Given the description of an element on the screen output the (x, y) to click on. 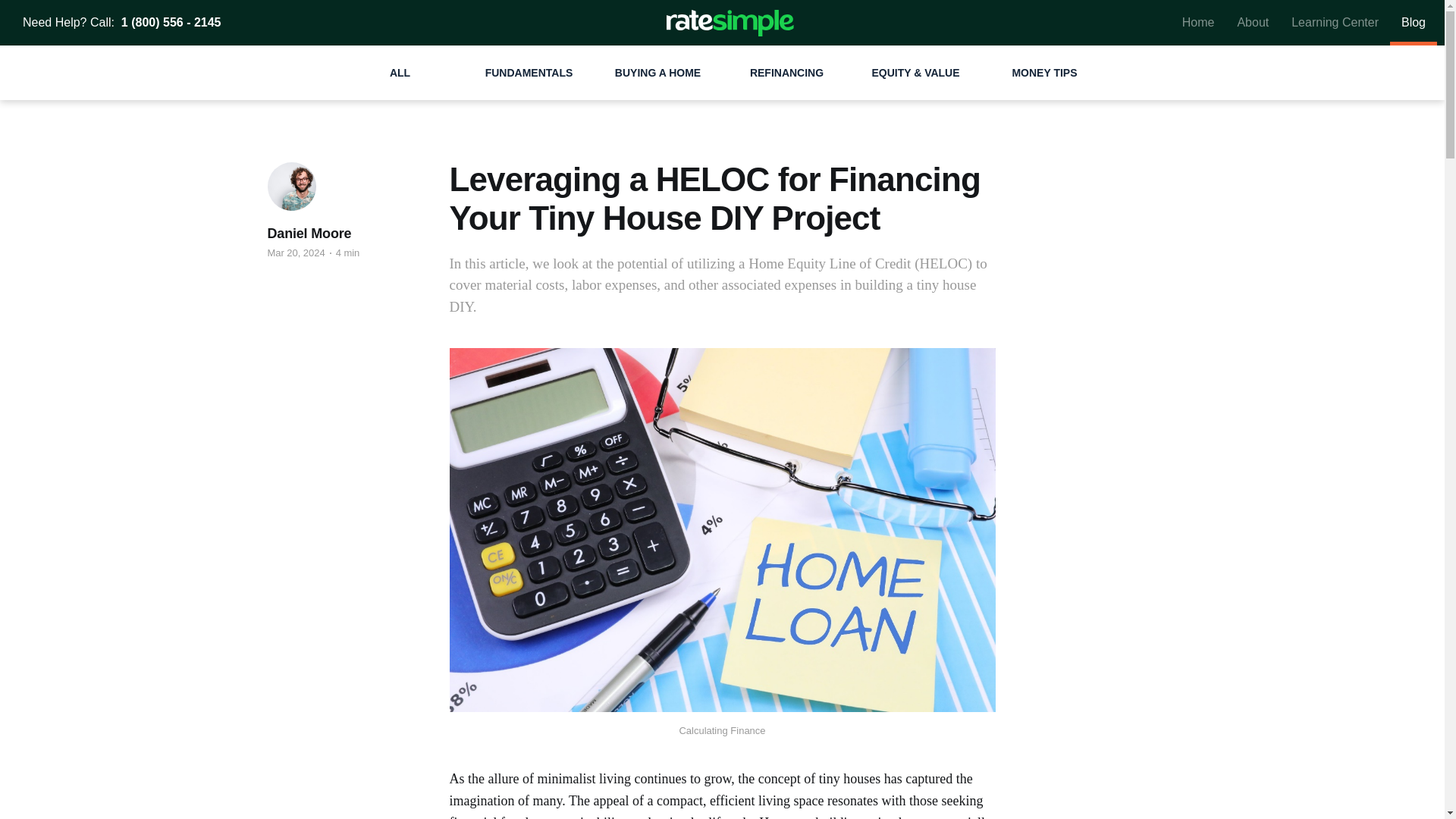
MONEY TIPS (1043, 72)
BUYING A HOME (657, 72)
Home (1197, 22)
FUNDAMENTALS (528, 72)
About (1252, 22)
Blog (1413, 22)
Daniel Moore (308, 233)
ALL (399, 72)
Learning Center (1334, 22)
REFINANCING (786, 72)
